Given the description of an element on the screen output the (x, y) to click on. 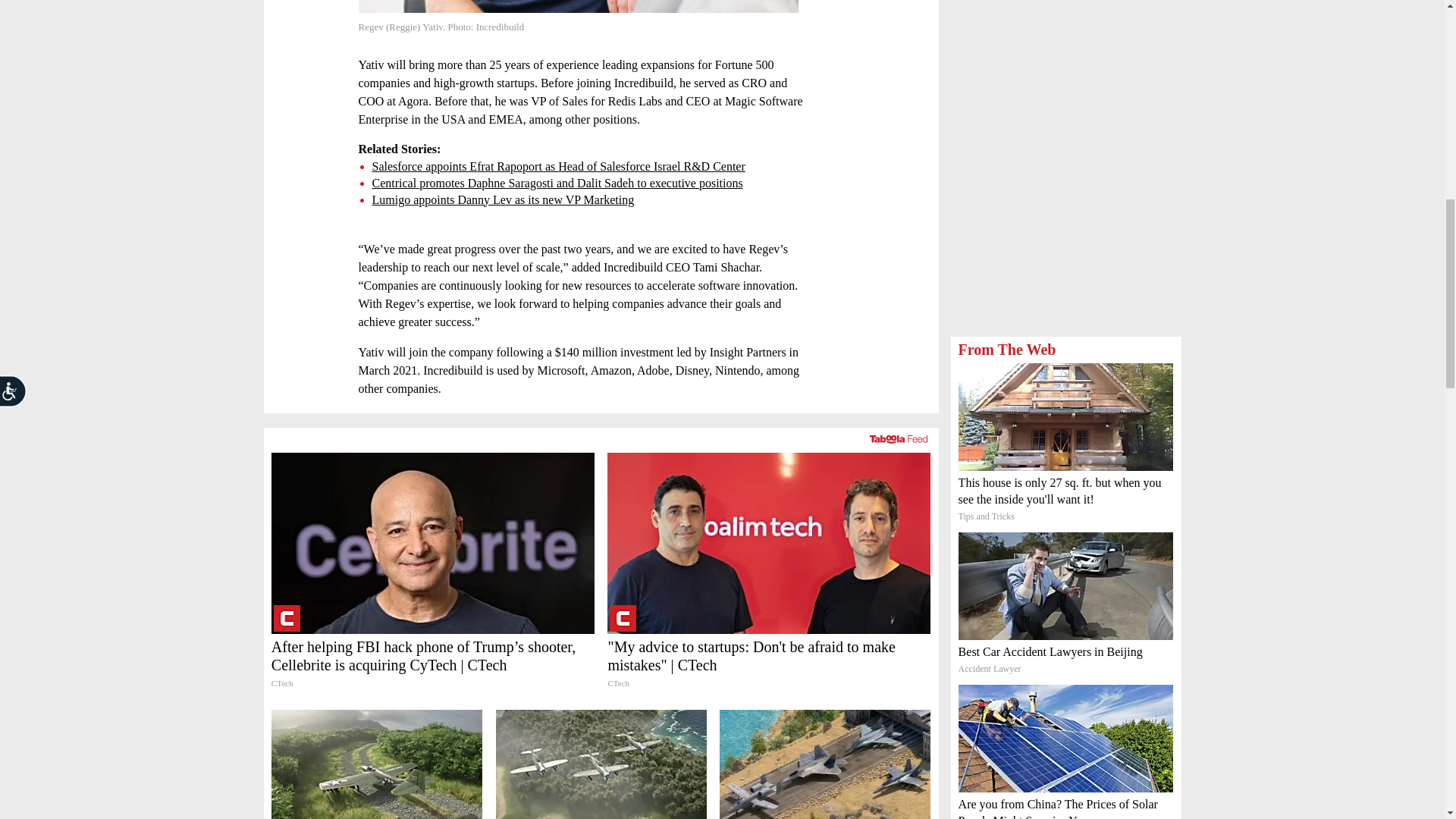
Lumigo appoints Danny Lev as its new VP Marketing (502, 199)
